Given the description of an element on the screen output the (x, y) to click on. 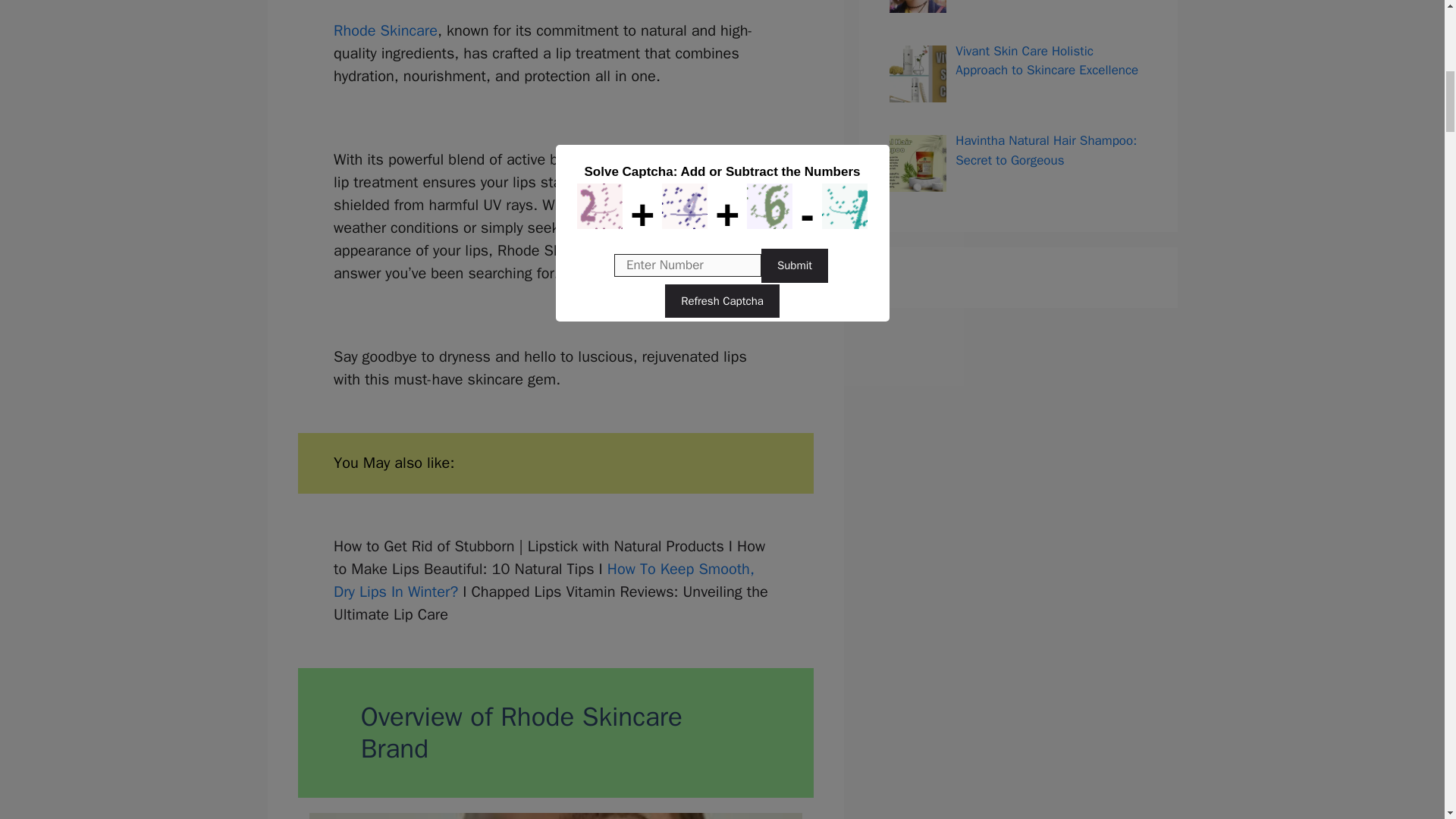
Rhode Skincare (385, 30)
How To Keep Smooth, Dry Lips In Winter? (543, 580)
